Given the description of an element on the screen output the (x, y) to click on. 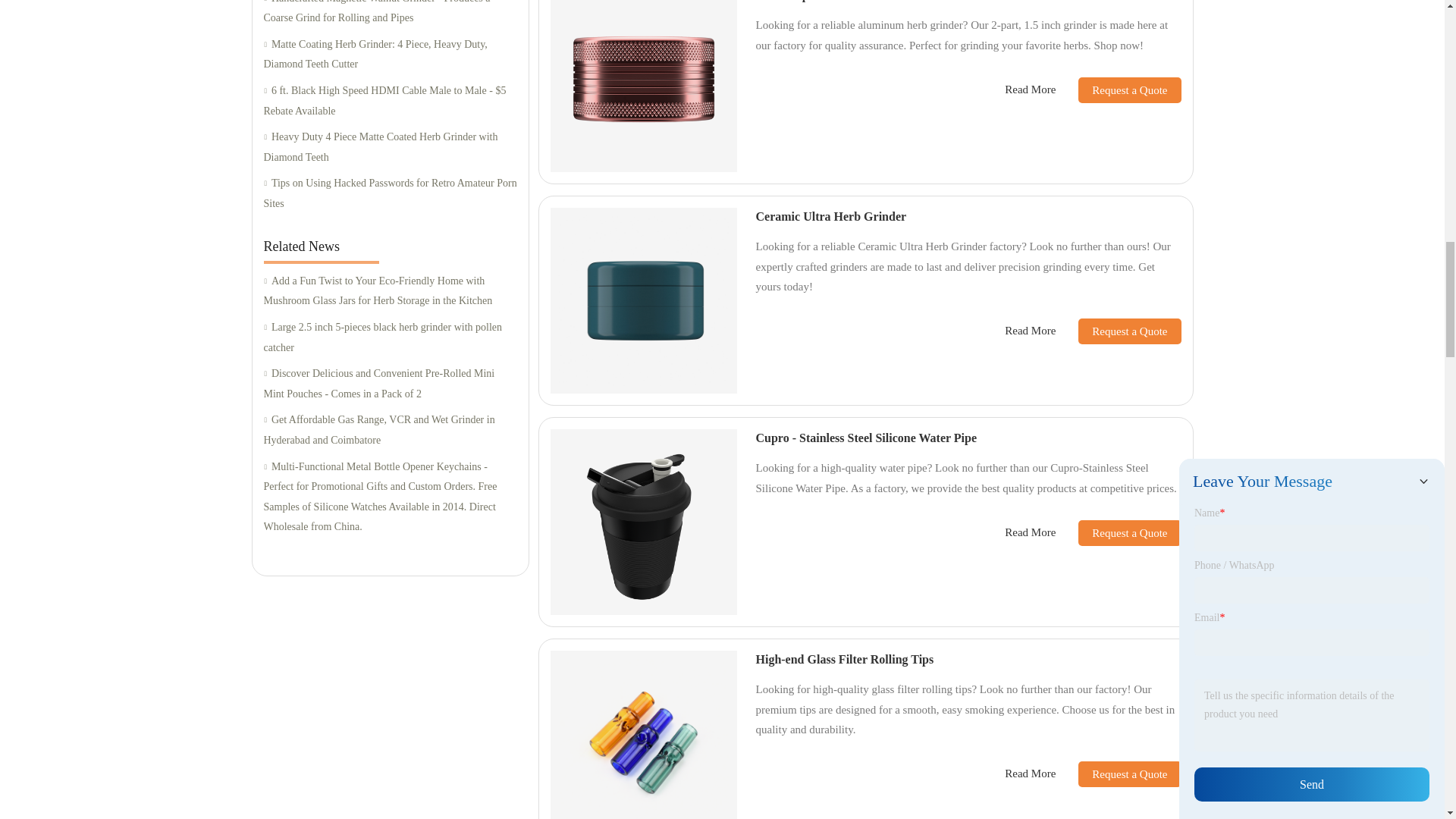
Tips on Using Hacked Passwords for Retro Amateur Porn Sites (389, 193)
